Given the description of an element on the screen output the (x, y) to click on. 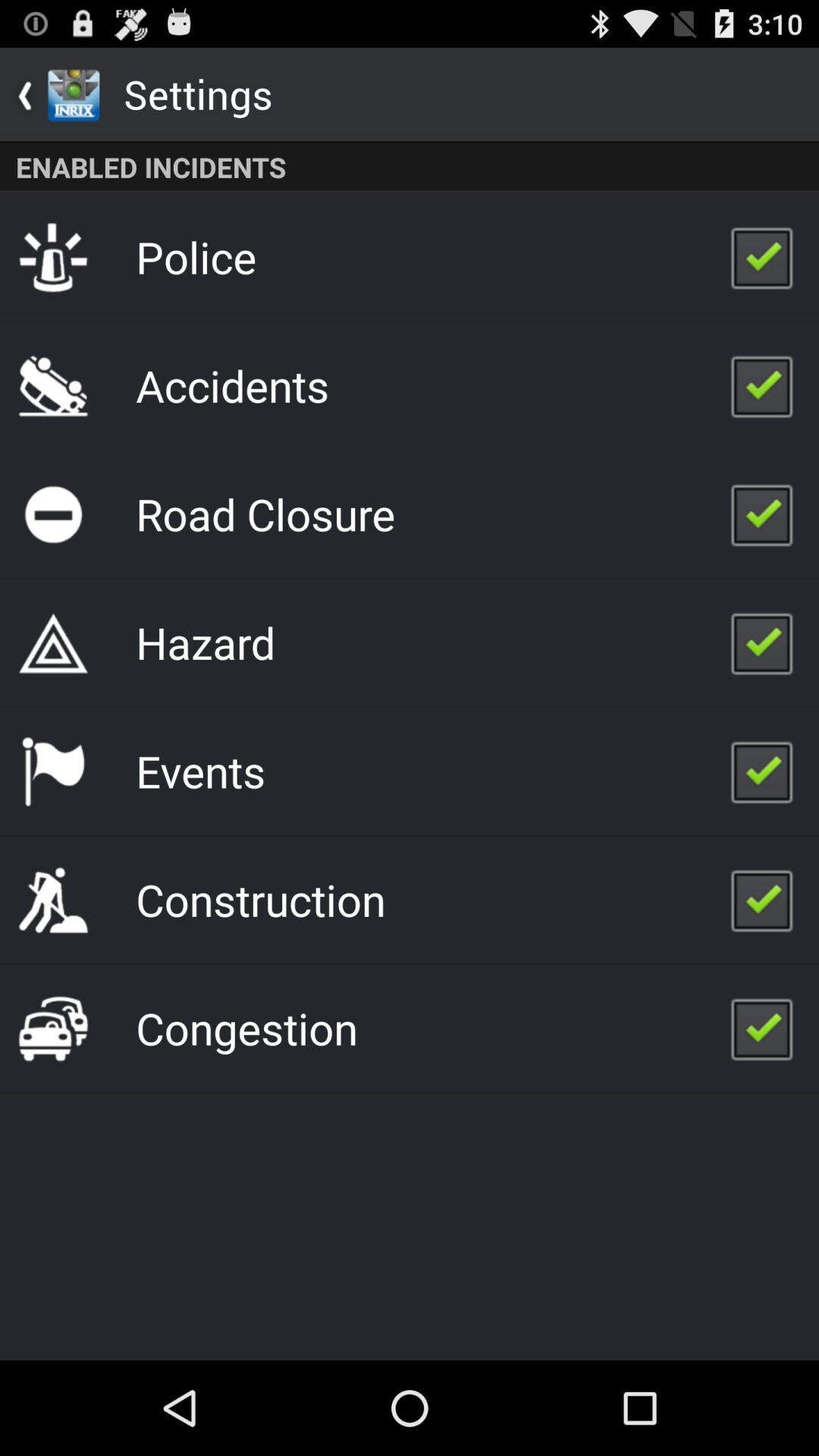
tap police icon (195, 256)
